Given the description of an element on the screen output the (x, y) to click on. 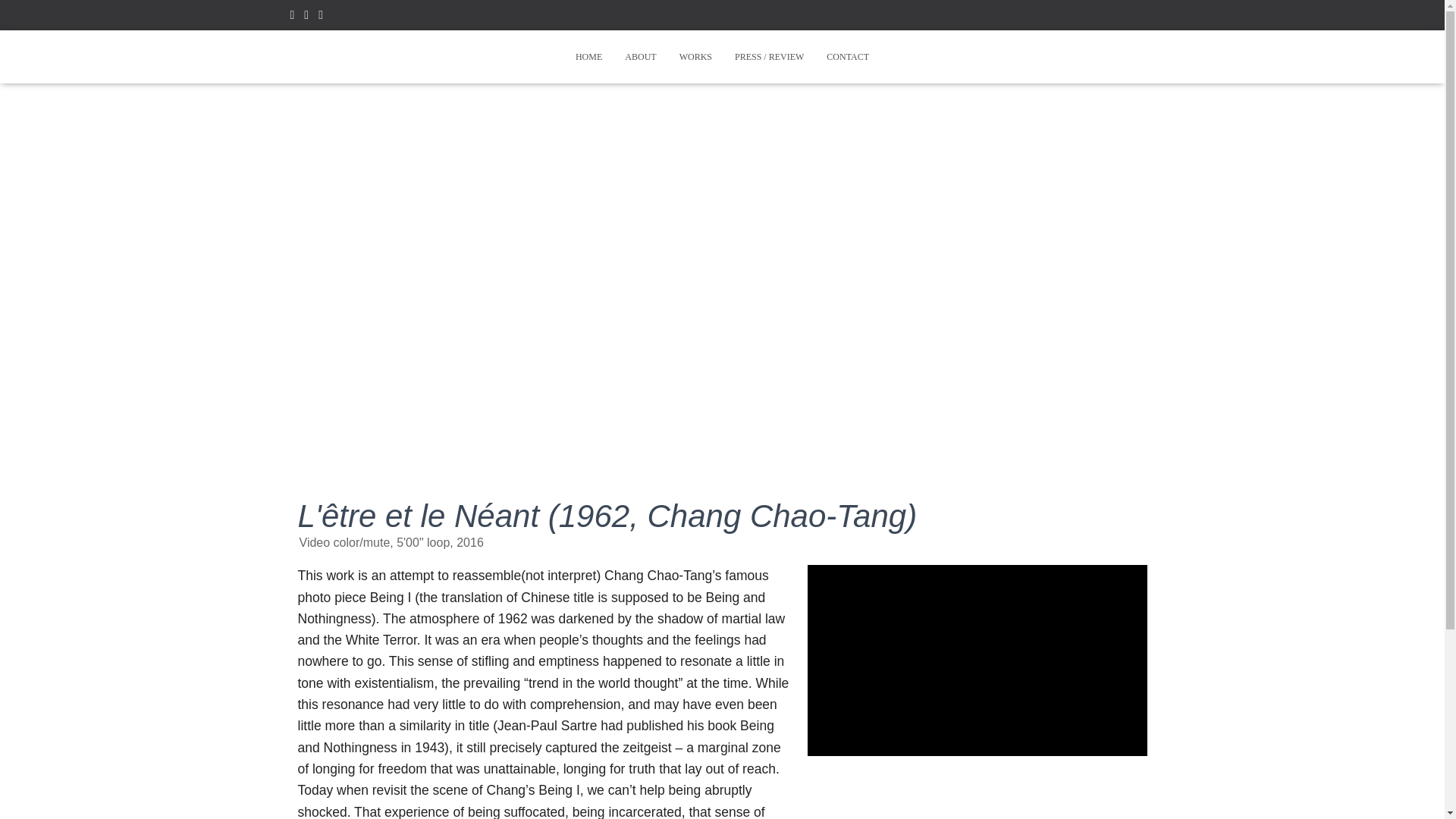
Contact (847, 56)
About (639, 56)
ABOUT (639, 56)
vimeo Video Player (976, 660)
CONTACT (847, 56)
WORKS (695, 56)
HOME (588, 56)
Home (588, 56)
Works (695, 56)
